Given the description of an element on the screen output the (x, y) to click on. 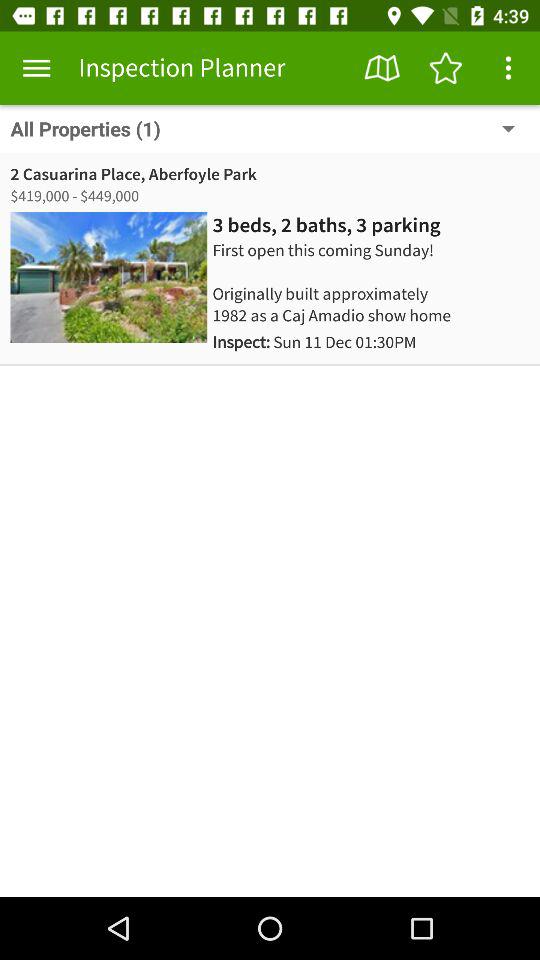
flip until first open this (343, 282)
